Given the description of an element on the screen output the (x, y) to click on. 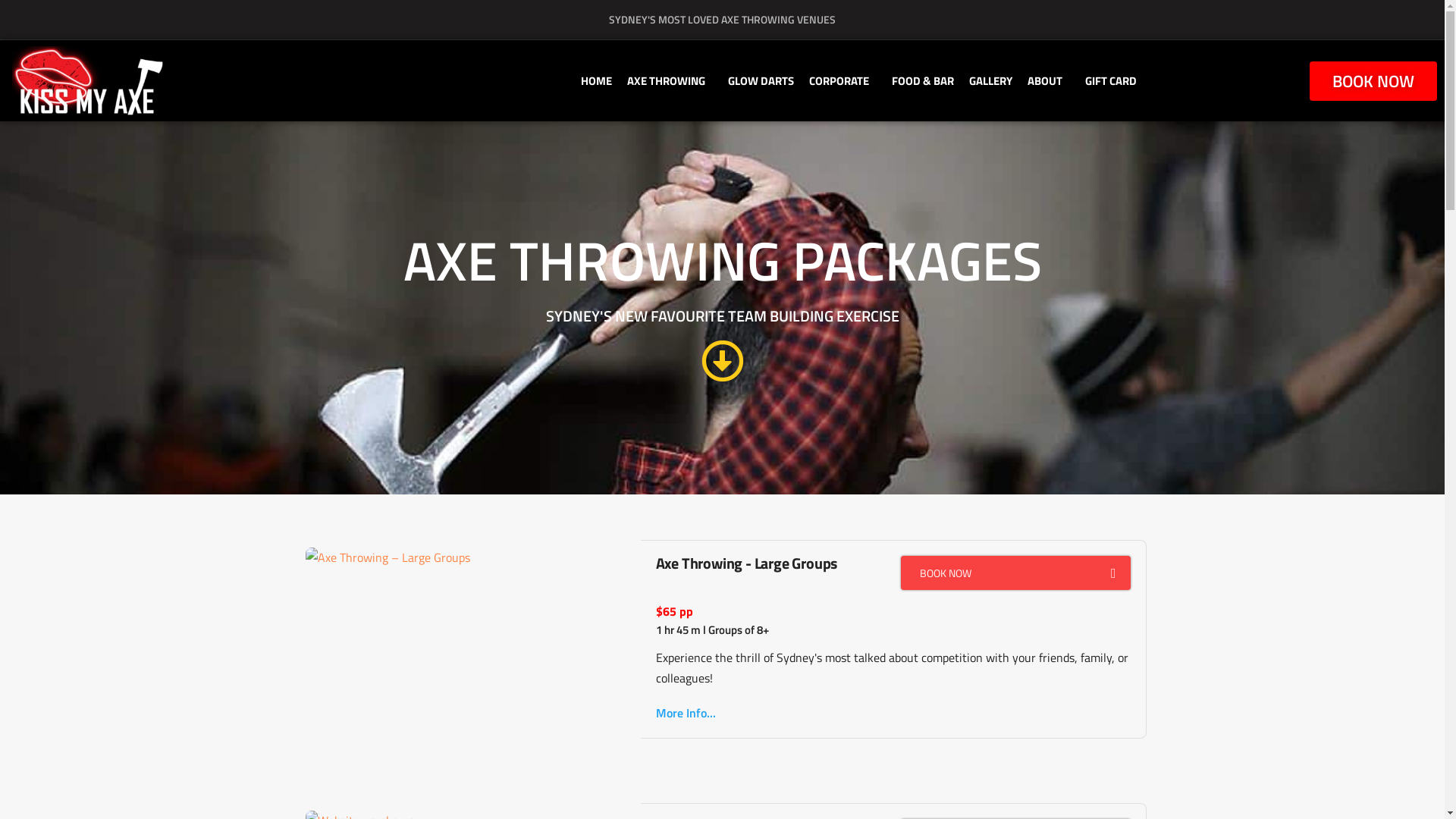
CORPORATE Element type: text (842, 80)
GIFT CARD Element type: text (1110, 80)
FOOD & BAR Element type: text (922, 80)
1 hr 45 m l Groups of 8+ Element type: text (711, 630)
ABOUT Element type: text (1048, 80)
$65 pp Element type: text (674, 611)
BOOK NOW Element type: text (1015, 572)
AXE THROWING Element type: text (669, 80)
GALLERY Element type: text (990, 80)
More Info... Element type: text (685, 712)
GLOW DARTS Element type: text (760, 80)
BOOK NOW Element type: text (1373, 80)
HOME Element type: text (596, 80)
